Given the description of an element on the screen output the (x, y) to click on. 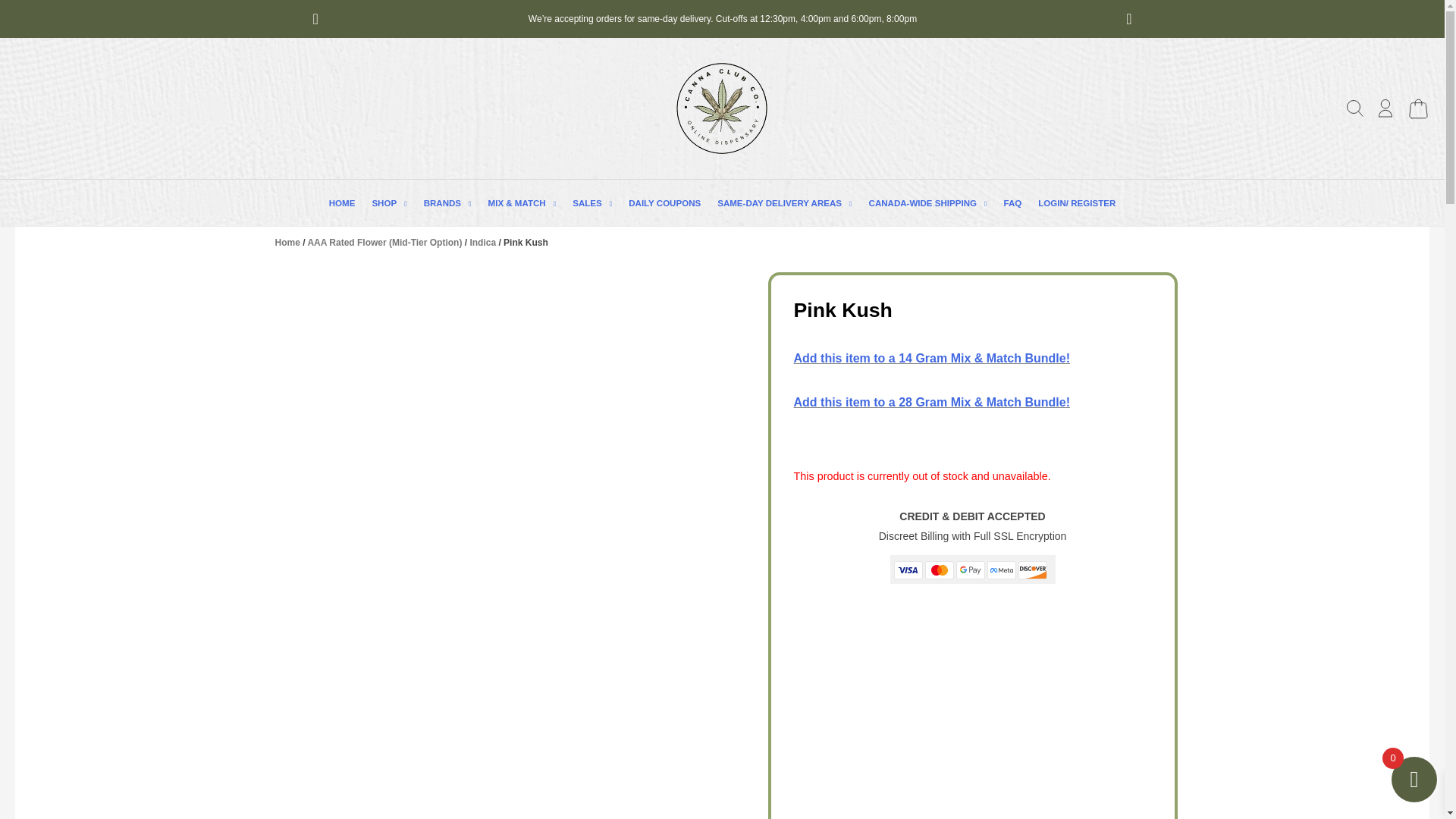
HOME (342, 203)
View your shopping cart (1418, 116)
SHOP (388, 203)
